Given the description of an element on the screen output the (x, y) to click on. 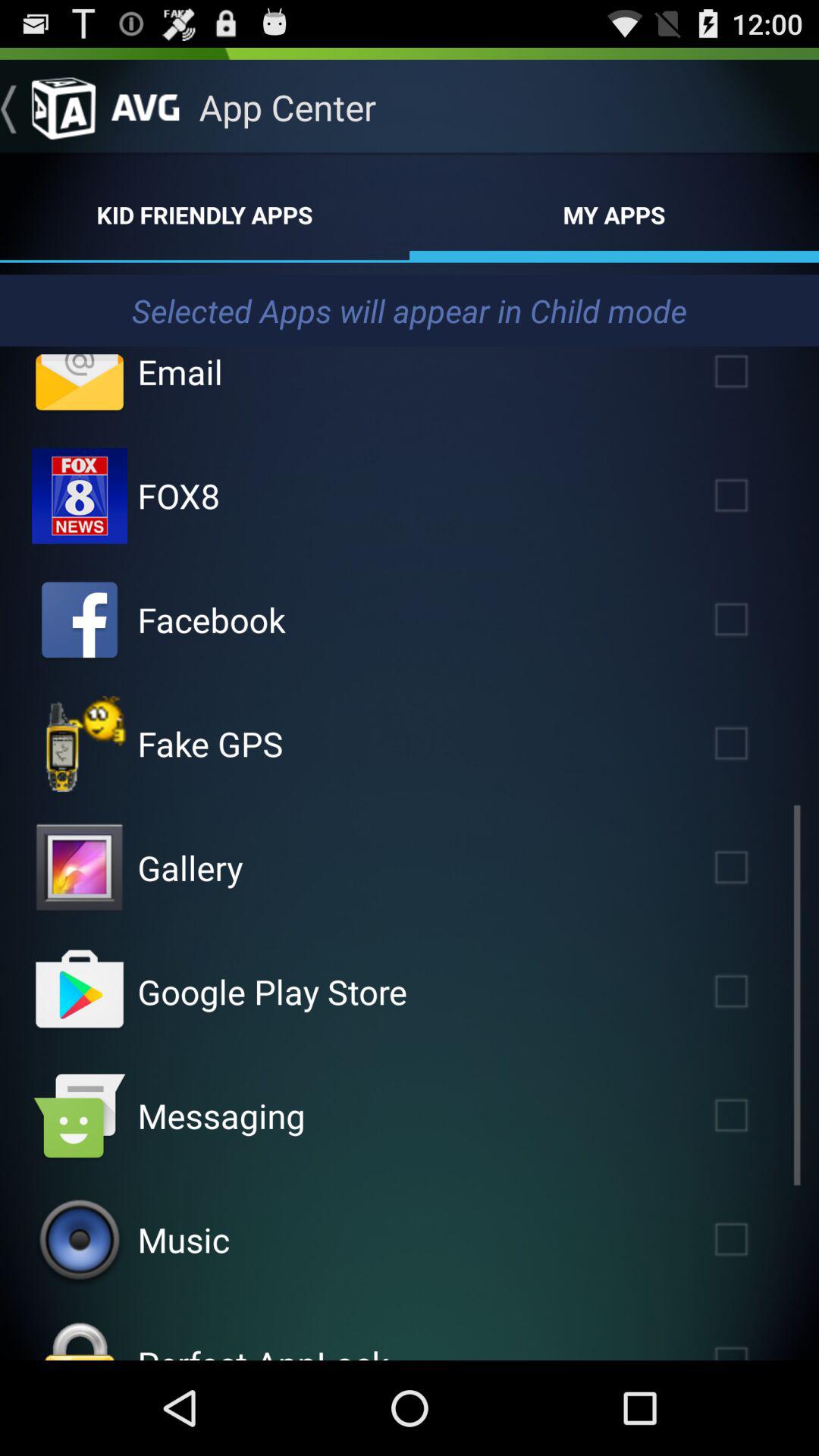
select google play store (753, 991)
